Given the description of an element on the screen output the (x, y) to click on. 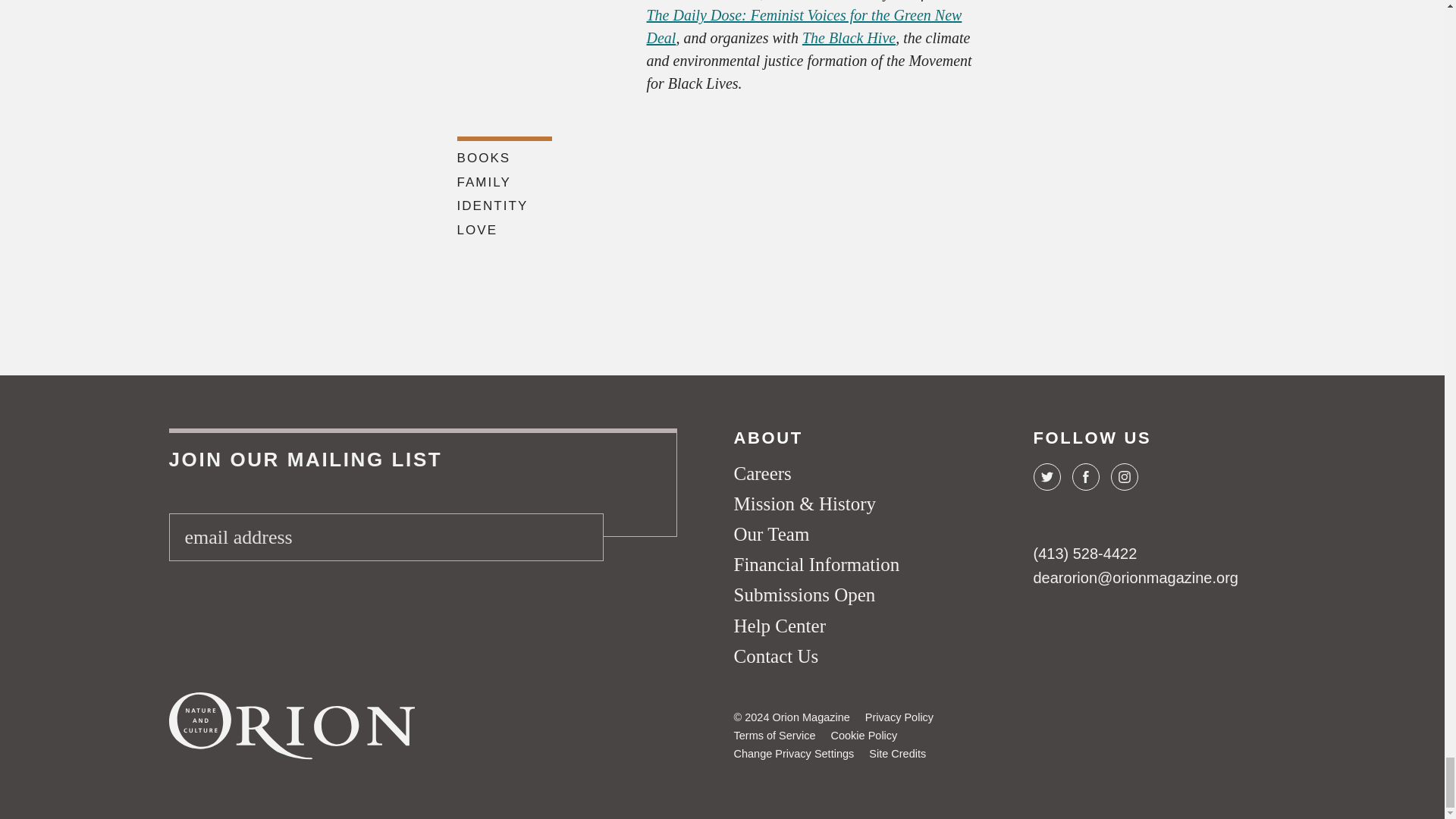
On Facebook (1085, 476)
On Twitter (1045, 476)
On Instagram (1123, 476)
